Given the description of an element on the screen output the (x, y) to click on. 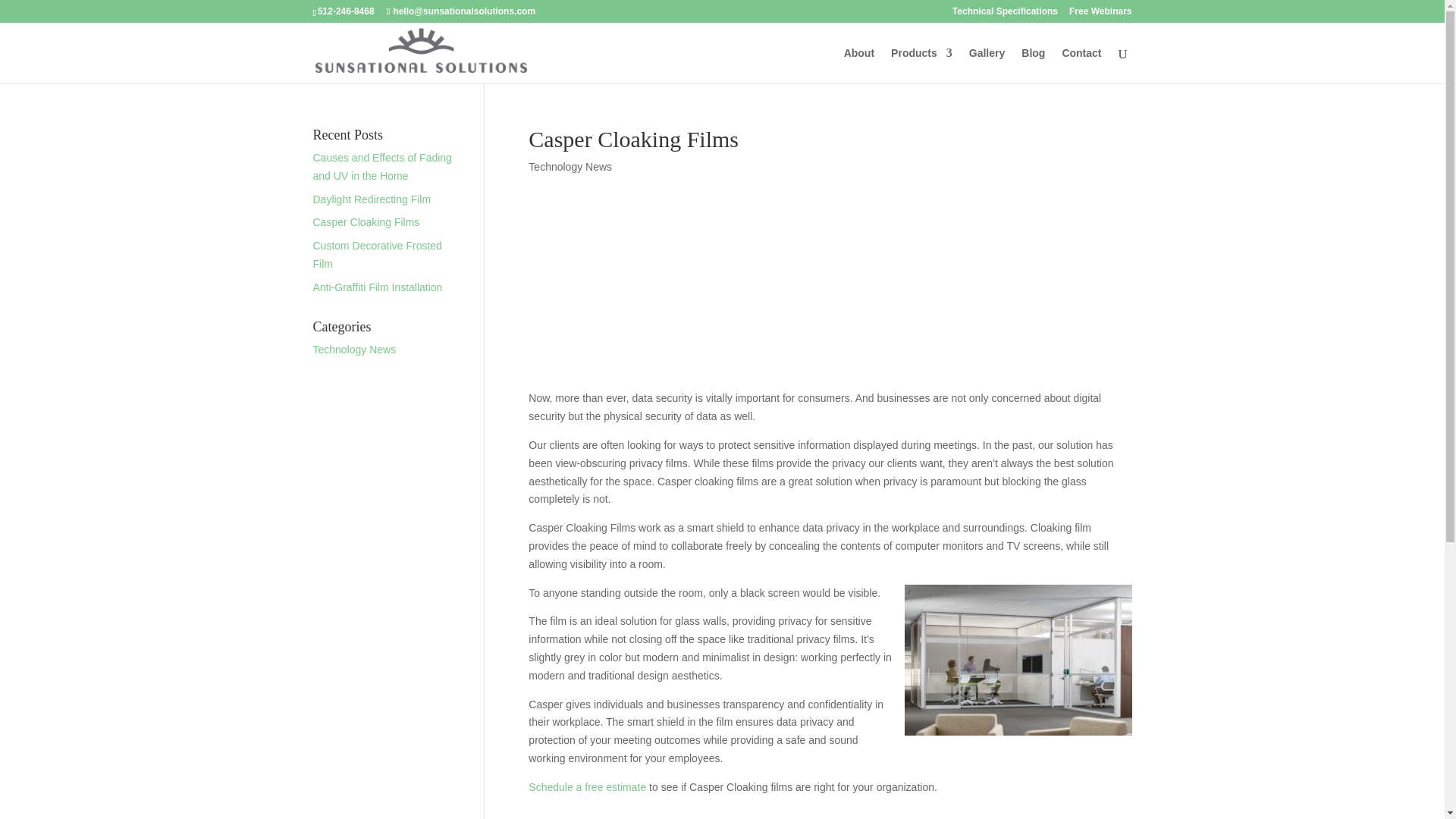
Contact (1080, 65)
Daylight Redirecting Film (371, 199)
Causes and Effects of Fading and UV in the Home (382, 166)
Gallery (986, 65)
Custom Decorative Frosted Film (377, 254)
Free Webinars (1099, 14)
Products (921, 65)
Anti-Graffiti Film Installation (377, 287)
Technical Specifications (1005, 14)
Technology News (354, 349)
